Given the description of an element on the screen output the (x, y) to click on. 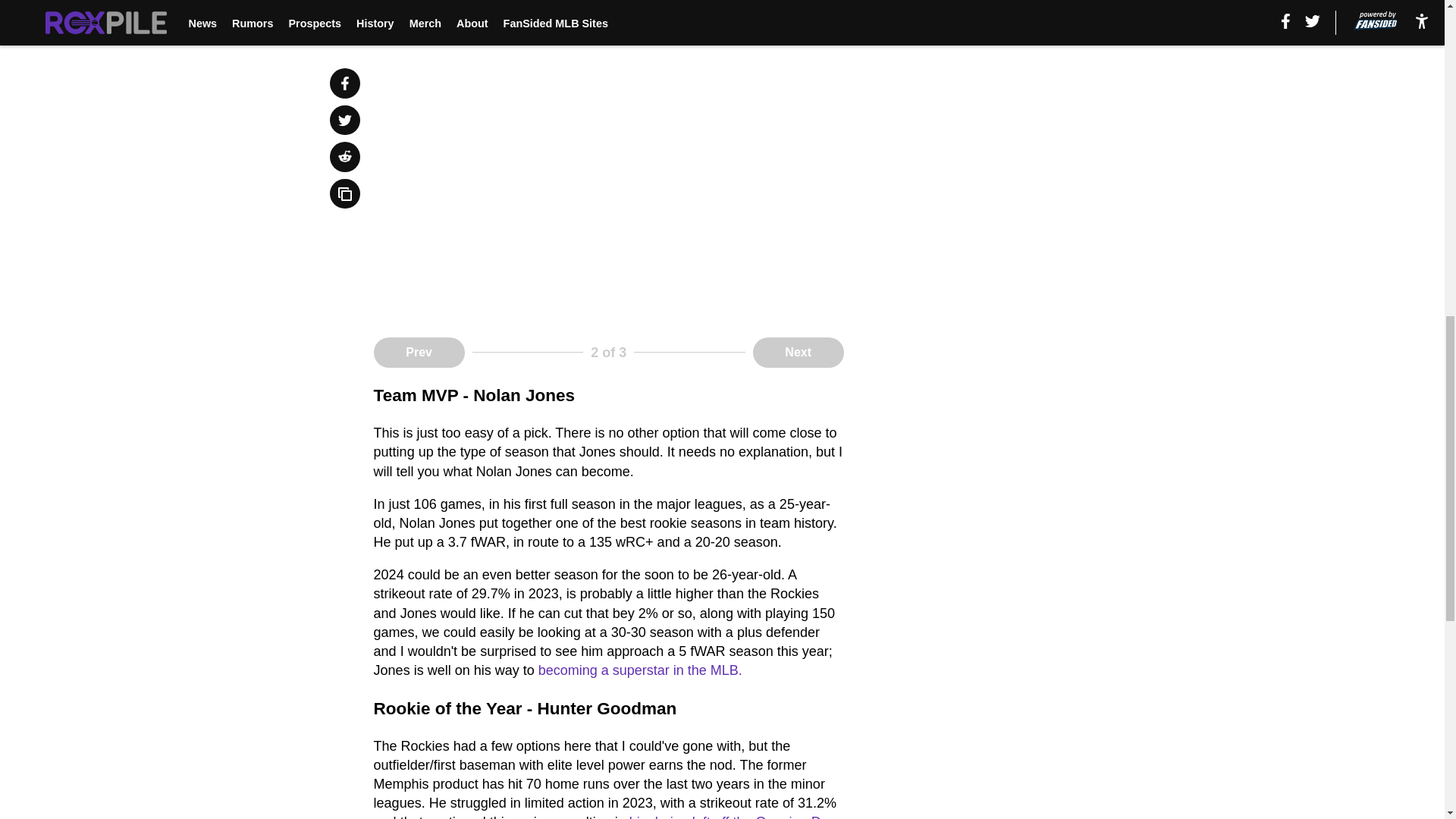
Prev (419, 352)
becoming a superstar in the MLB. (640, 670)
Next (798, 352)
